Given the description of an element on the screen output the (x, y) to click on. 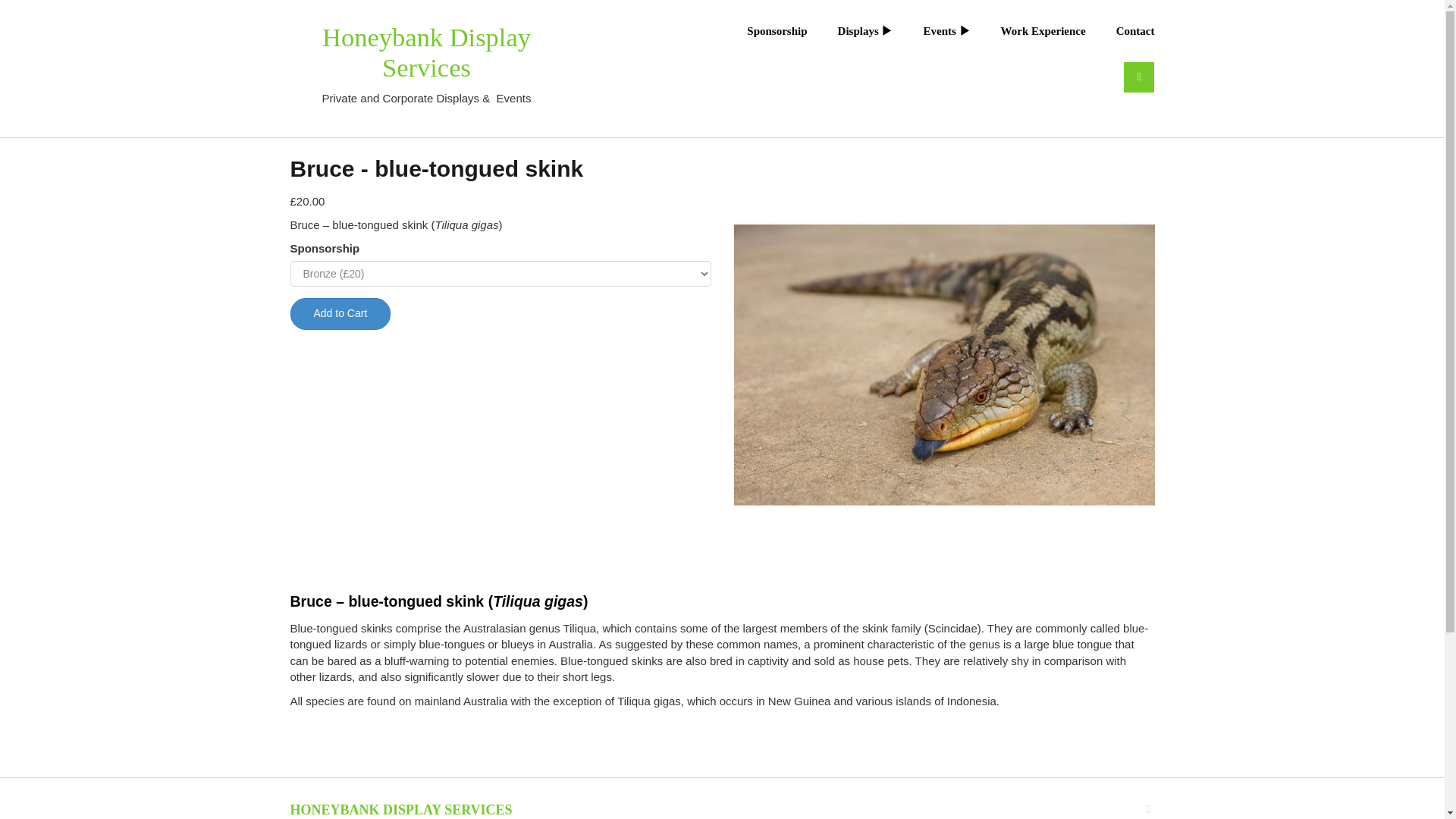
Work Experience (1028, 30)
Twitter (1148, 808)
Add to Cart (339, 314)
search (1139, 77)
Sponsorship (761, 30)
Contact (1120, 30)
HONEYBANK DISPLAY SERVICES (400, 809)
Events (930, 30)
Honeybank Display Services (426, 51)
Displays (850, 30)
